Given the description of an element on the screen output the (x, y) to click on. 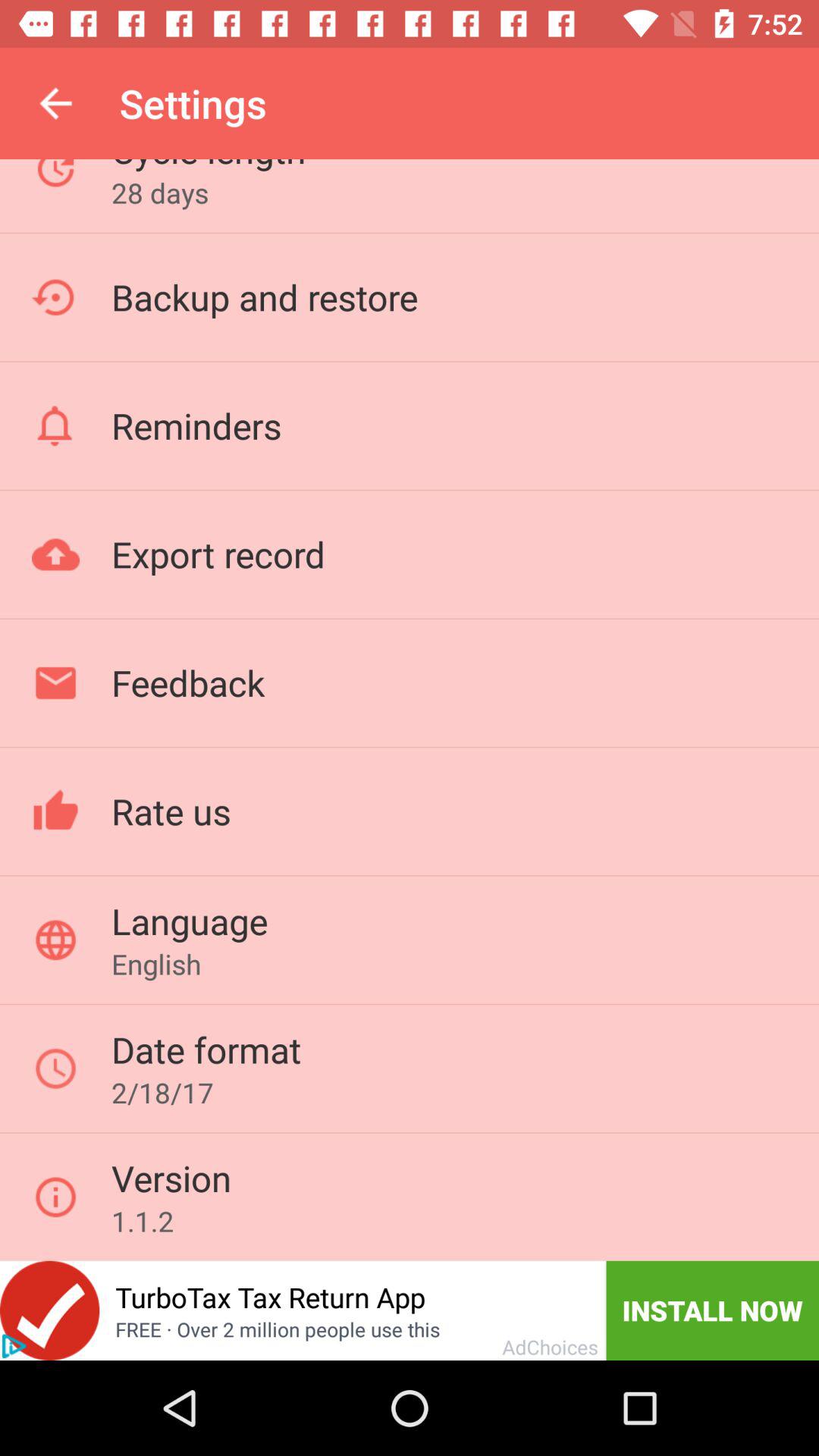
click for advertisement information (14, 1346)
